Given the description of an element on the screen output the (x, y) to click on. 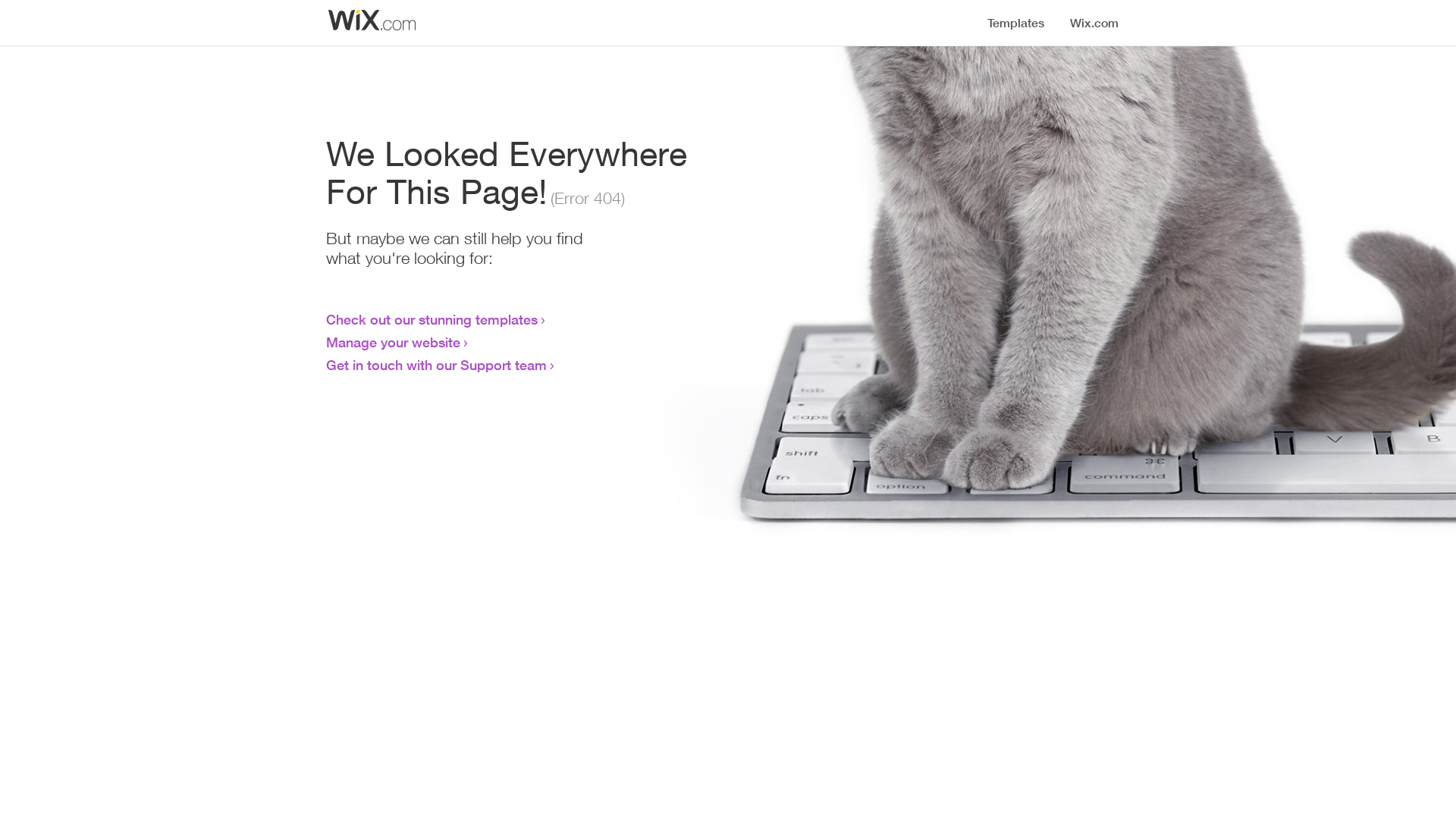
Get in touch with our Support team Element type: text (436, 364)
Manage your website Element type: text (393, 341)
Check out our stunning templates Element type: text (431, 318)
